Given the description of an element on the screen output the (x, y) to click on. 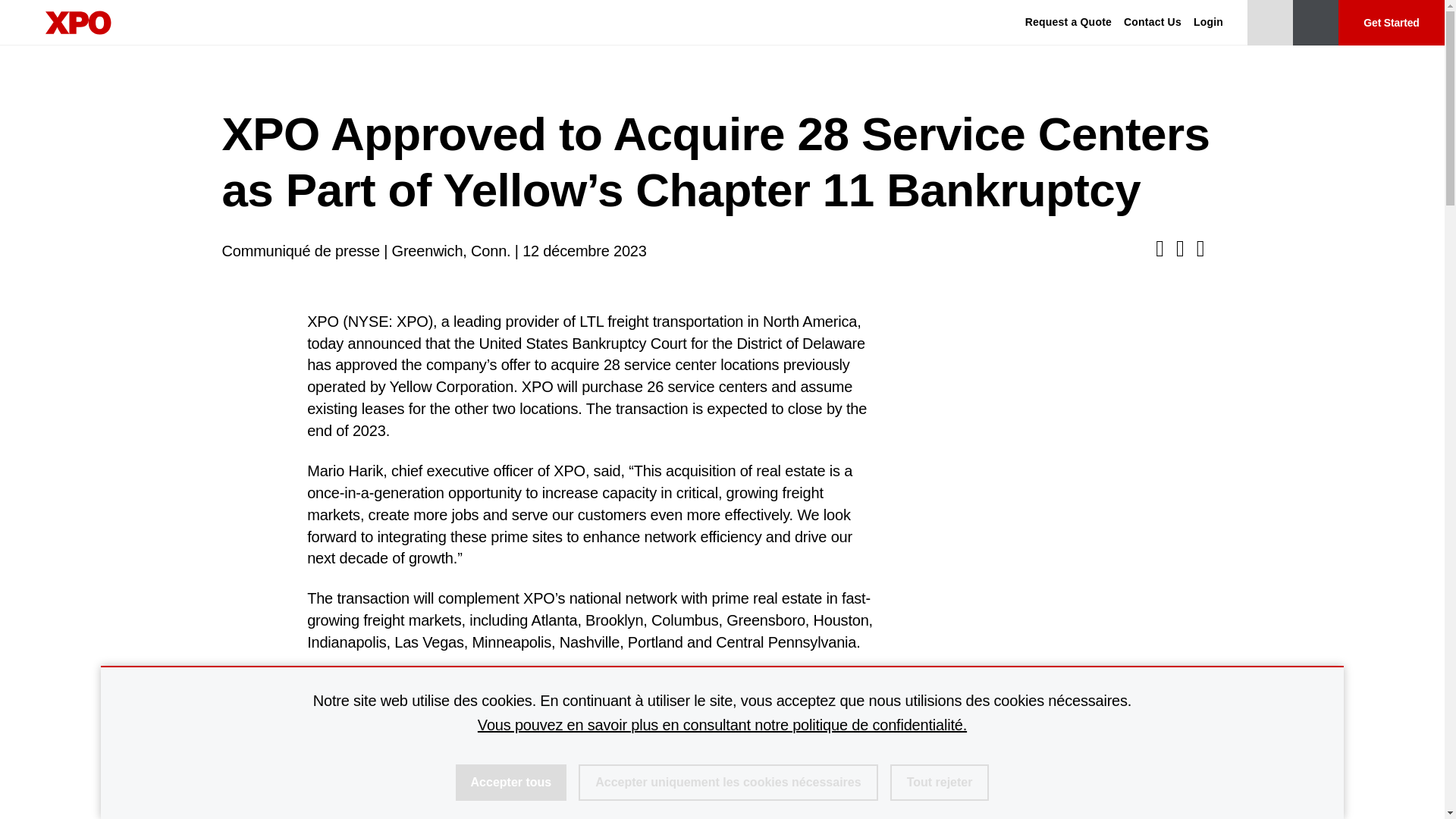
Contact Us (1152, 22)
XPO (78, 22)
Tout rejeter (939, 782)
Request a Quote (1068, 22)
Accepter tous (511, 782)
